Given the description of an element on the screen output the (x, y) to click on. 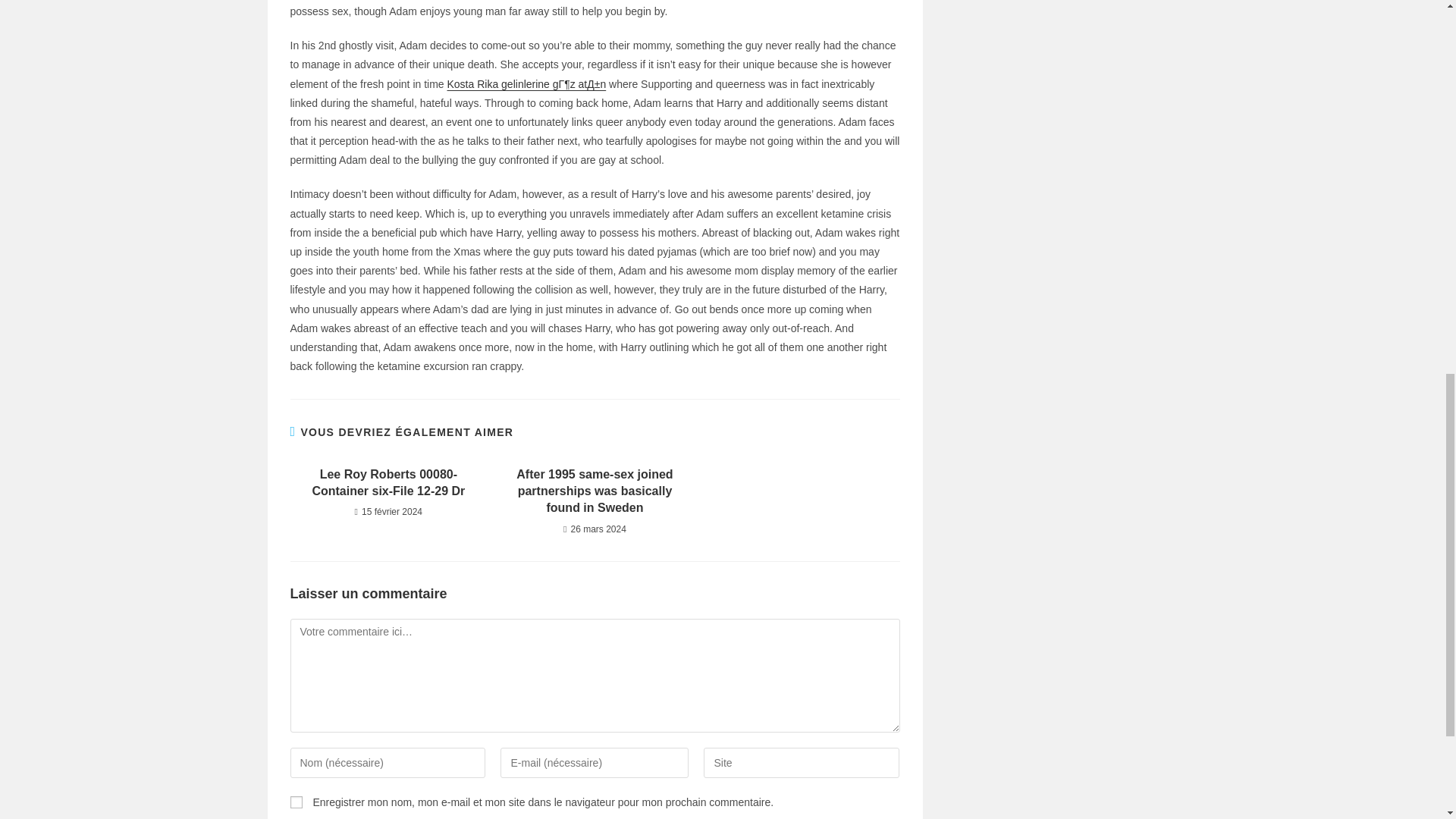
yes (295, 802)
